Given the description of an element on the screen output the (x, y) to click on. 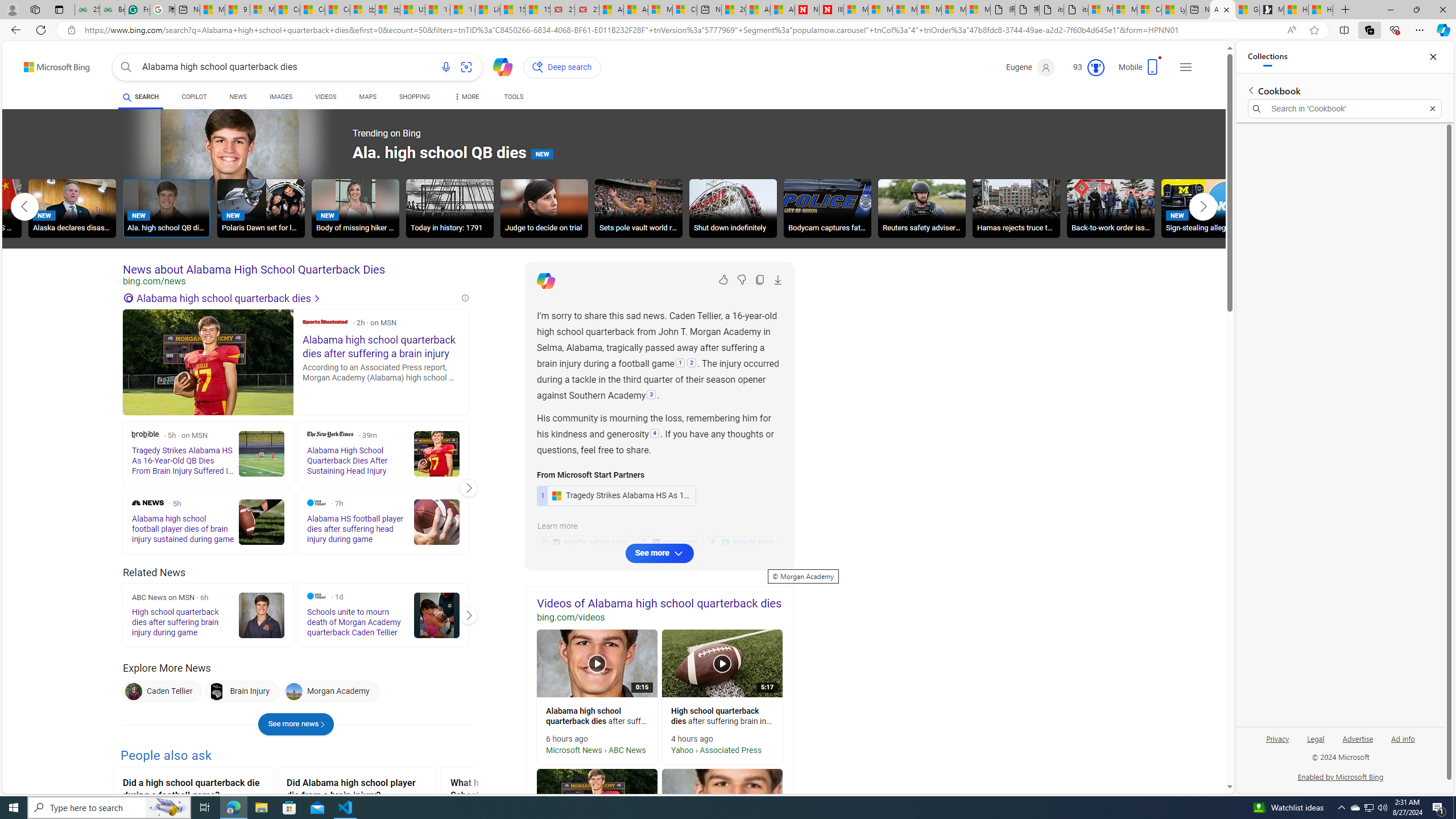
SEARCH (140, 96)
Sign-stealing allegations NEW (1205, 207)
itconcepthk.com/projector_solutions.mp4 (1075, 9)
COPILOT (193, 98)
Lifestyle - MSN (487, 9)
Eugene (1030, 67)
Search using an image (465, 66)
